Given the description of an element on the screen output the (x, y) to click on. 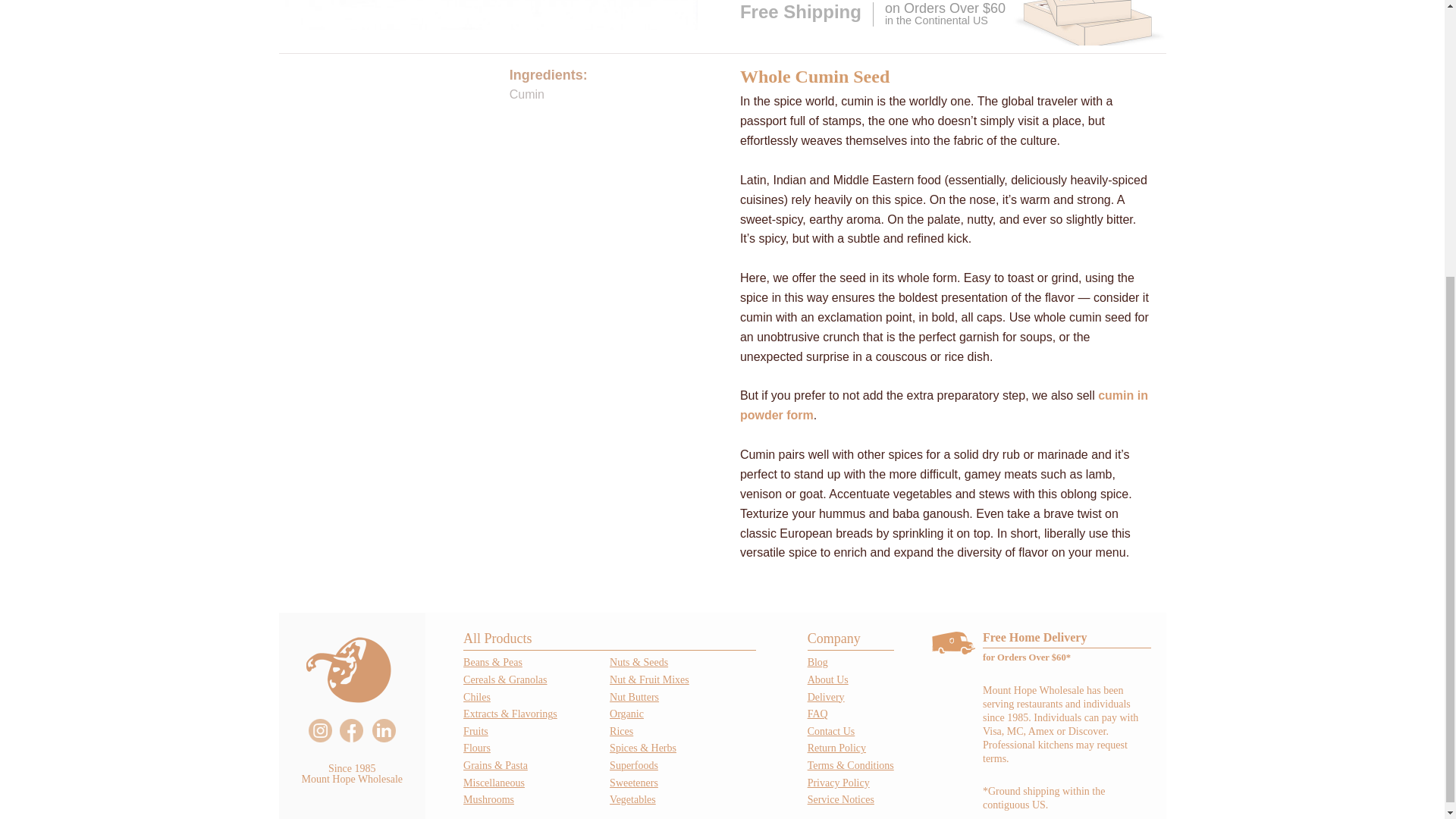
Facebook (350, 730)
Flours (476, 747)
Fruits (475, 731)
SCUMWH (491, 18)
LinkedIn (384, 730)
All Products (609, 639)
Instagram (319, 730)
Chiles (476, 696)
cumin in powder form (943, 405)
